Given the description of an element on the screen output the (x, y) to click on. 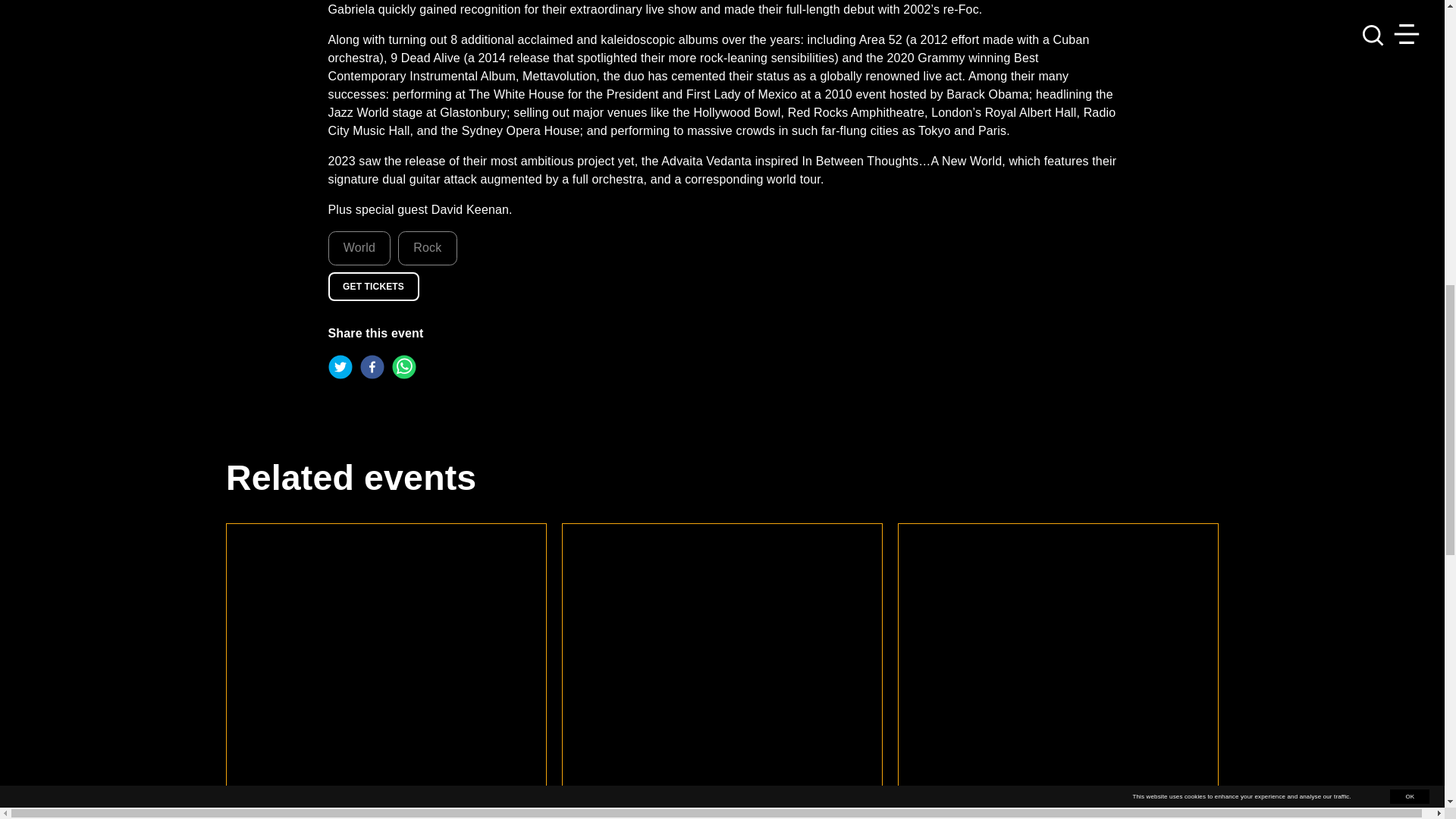
Rock (427, 247)
World (358, 247)
Rock (427, 247)
World (358, 247)
GET TICKETS (373, 286)
